Given the description of an element on the screen output the (x, y) to click on. 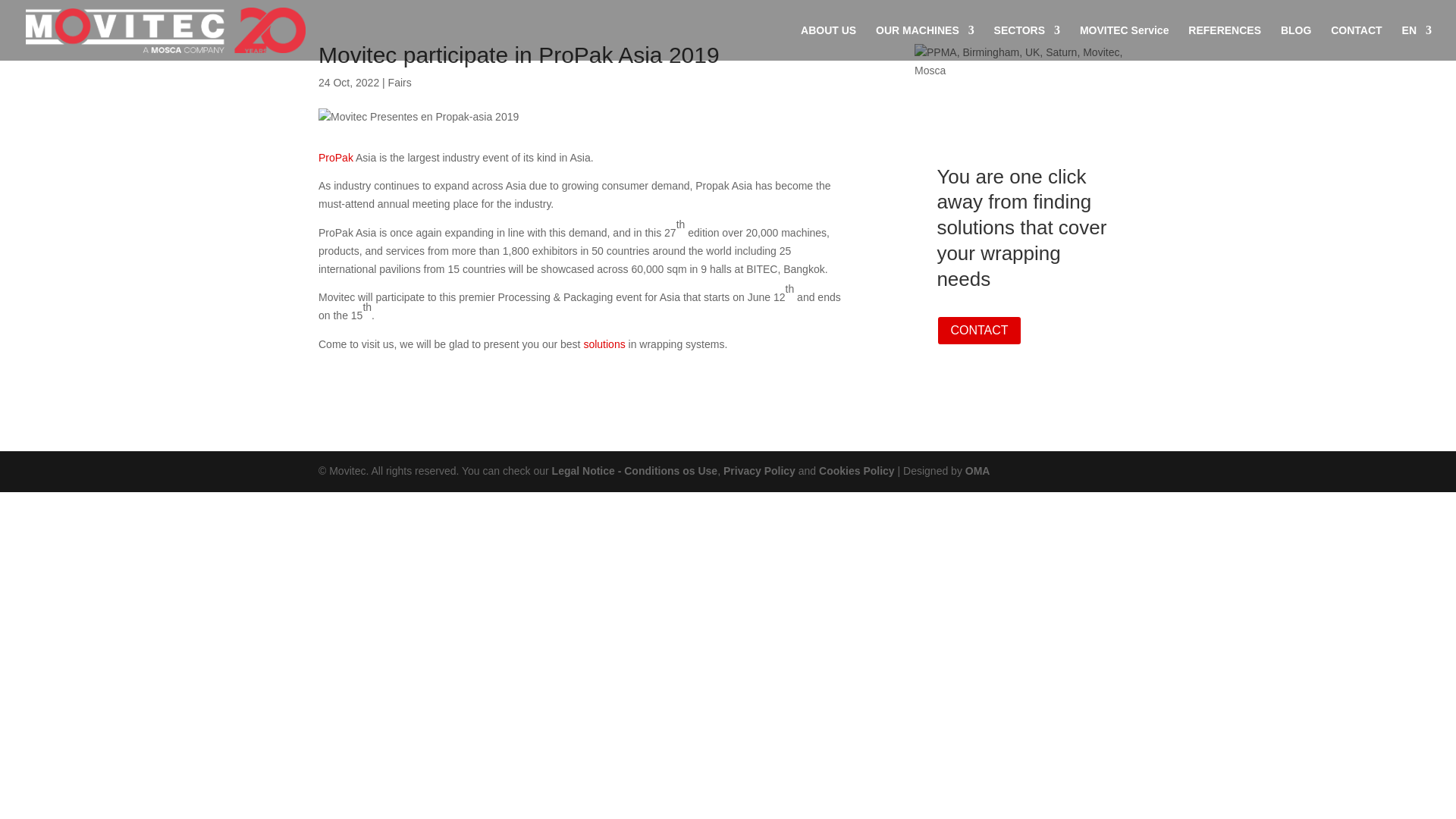
CONTACT (1355, 42)
OUR MACHINES (925, 42)
Cookies Policy (856, 470)
ABOUT US (828, 42)
ProPak (336, 157)
MOVITEC Service (1124, 42)
OMA (977, 470)
Hispack 2022 (1025, 62)
CONTACT (979, 330)
REFERENCES (1224, 42)
SECTORS (1026, 42)
Fairs (400, 82)
Privacy Policy (758, 470)
solutions (605, 344)
Legal Notice - Conditions os Use (634, 470)
